Given the description of an element on the screen output the (x, y) to click on. 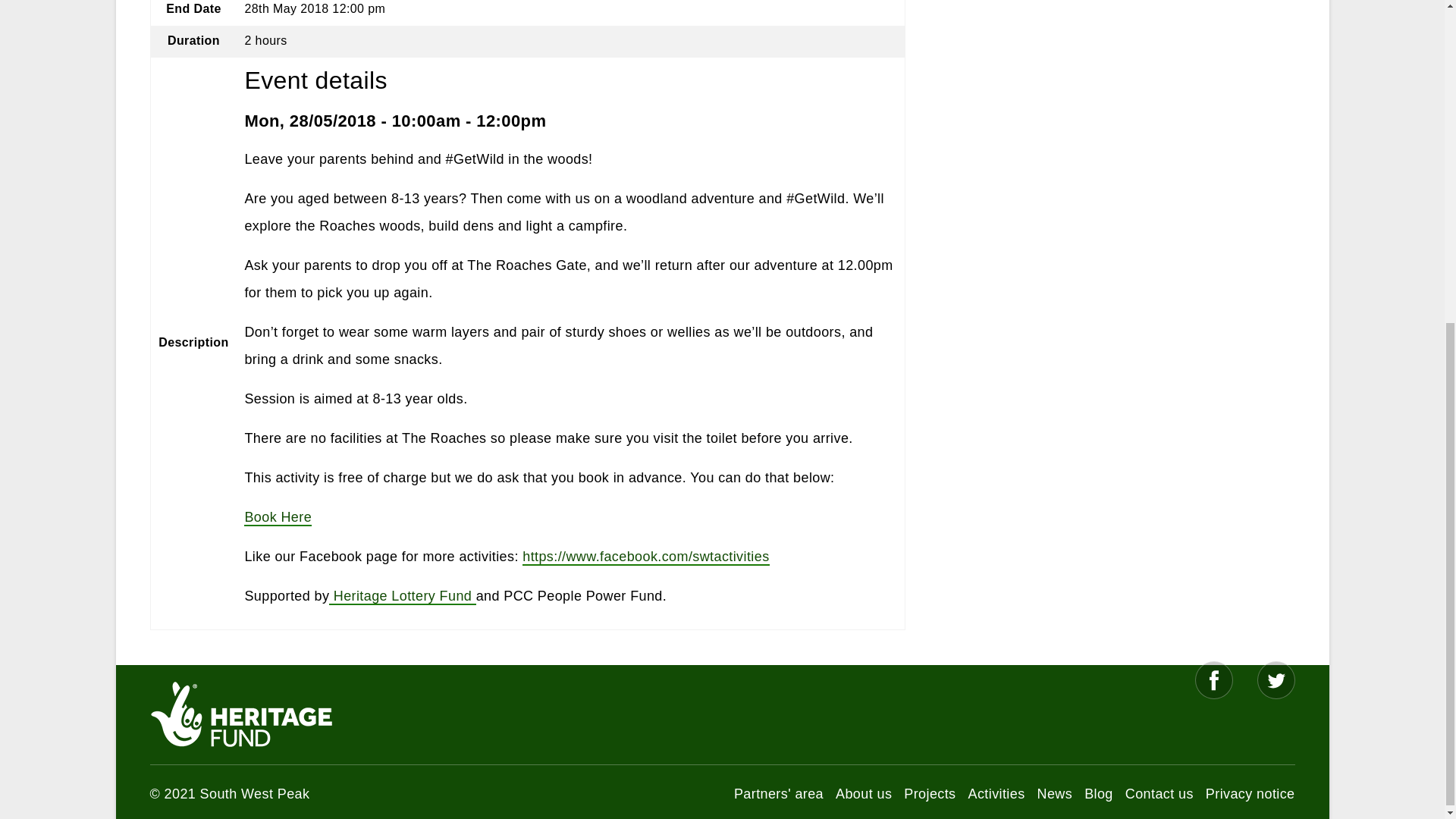
Blog (1098, 793)
Partners' area (778, 793)
Projects (929, 793)
Book Here (277, 517)
Heritage Lottery Fund (402, 596)
About us (863, 793)
News (1054, 793)
Activities (996, 793)
